Given the description of an element on the screen output the (x, y) to click on. 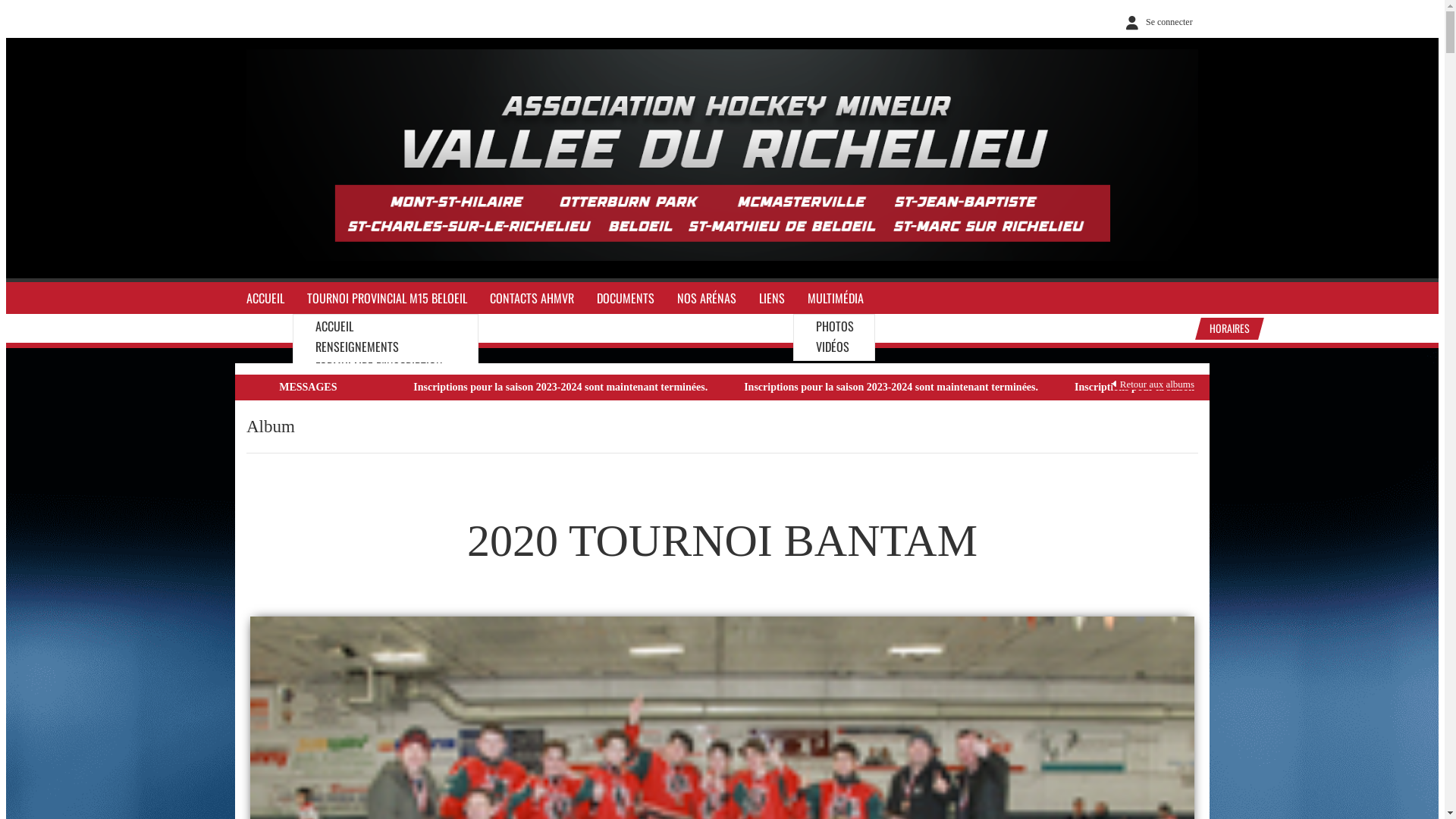
Retour aux albums Element type: text (1153, 383)
LIENS Element type: text (771, 298)
PHOTOS Element type: text (834, 325)
RENSEIGNEMENTS Element type: text (357, 346)
TOURNOI PROVINCIAL M15 BELOEIL Element type: text (386, 298)
ACCUEIL Element type: text (265, 298)
FORMULAIRE D'INSCRIPTION Element type: text (379, 366)
HORAIRES Element type: text (1226, 328)
HORAIRE ET STATISTIQUE Element type: text (372, 427)
ACCUEIL Element type: text (334, 325)
DOCUMENTS Element type: text (625, 298)
CONTACTS AHMVR Element type: text (531, 298)
PARTENAIRES Element type: text (346, 528)
PETITS PARRAINS Element type: text (355, 547)
FACEBOOK Element type: text (338, 507)
Se connecter Element type: text (1155, 21)
CONTACT Element type: text (336, 406)
